Given the description of an element on the screen output the (x, y) to click on. 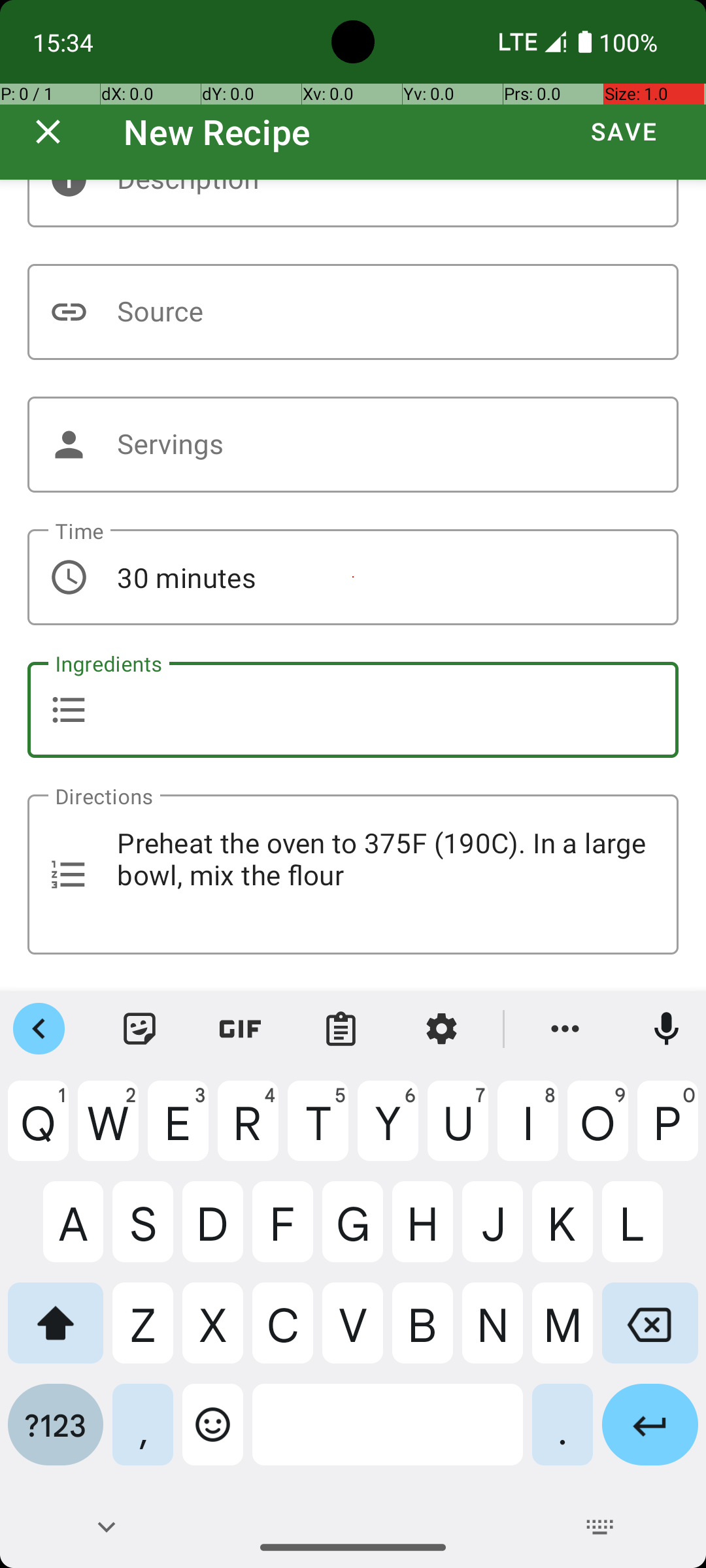
30 minutes Element type: android.widget.EditText (352, 577)
Preheat the oven to 375F (190C). In a large bowl, mix the flour
 Element type: android.widget.EditText (352, 874)
